Given the description of an element on the screen output the (x, y) to click on. 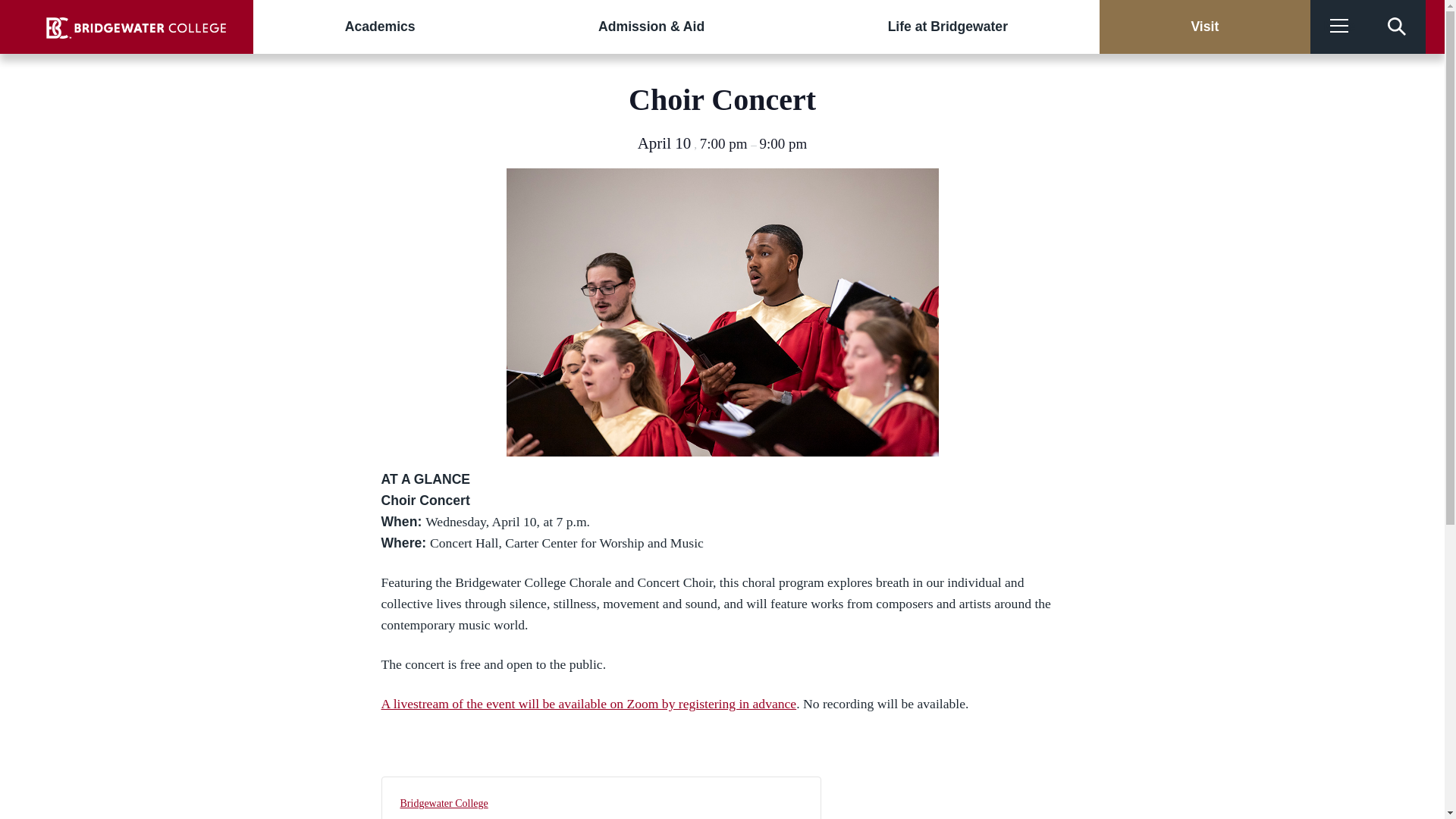
More (1339, 27)
Visit (1204, 27)
Bridgewater College (443, 803)
More (1339, 27)
Academics (379, 27)
Life at Bridgewater (947, 27)
Visit (1204, 27)
Academics (379, 27)
home (135, 27)
Life at Bridgewater (947, 27)
